Given the description of an element on the screen output the (x, y) to click on. 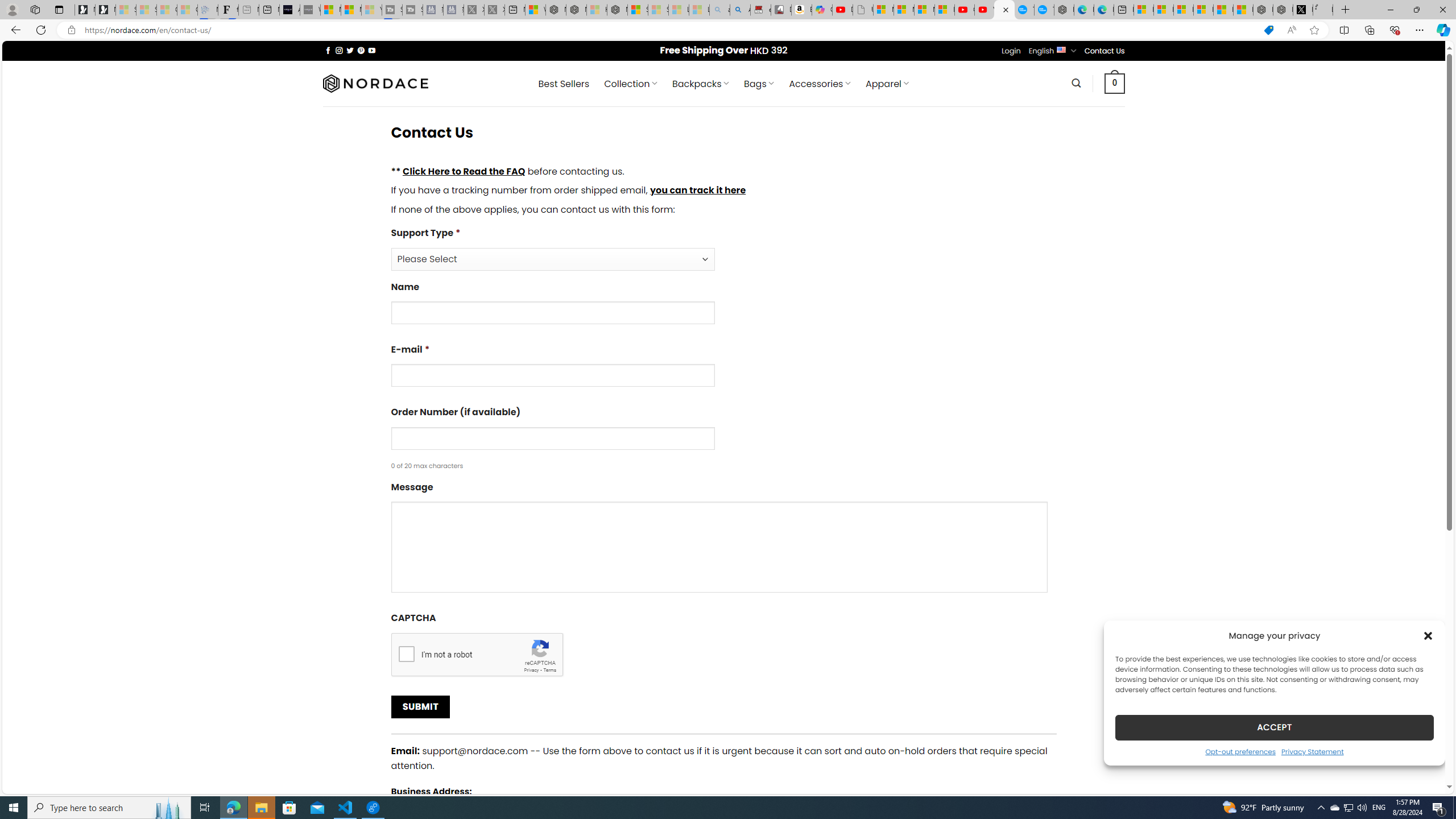
  Best Sellers (563, 83)
Nordace (@NordaceOfficial) / X (1302, 9)
Order Number (if available) (552, 437)
What's the best AI voice generator? - voice.ai - Sleeping (309, 9)
